Given the description of an element on the screen output the (x, y) to click on. 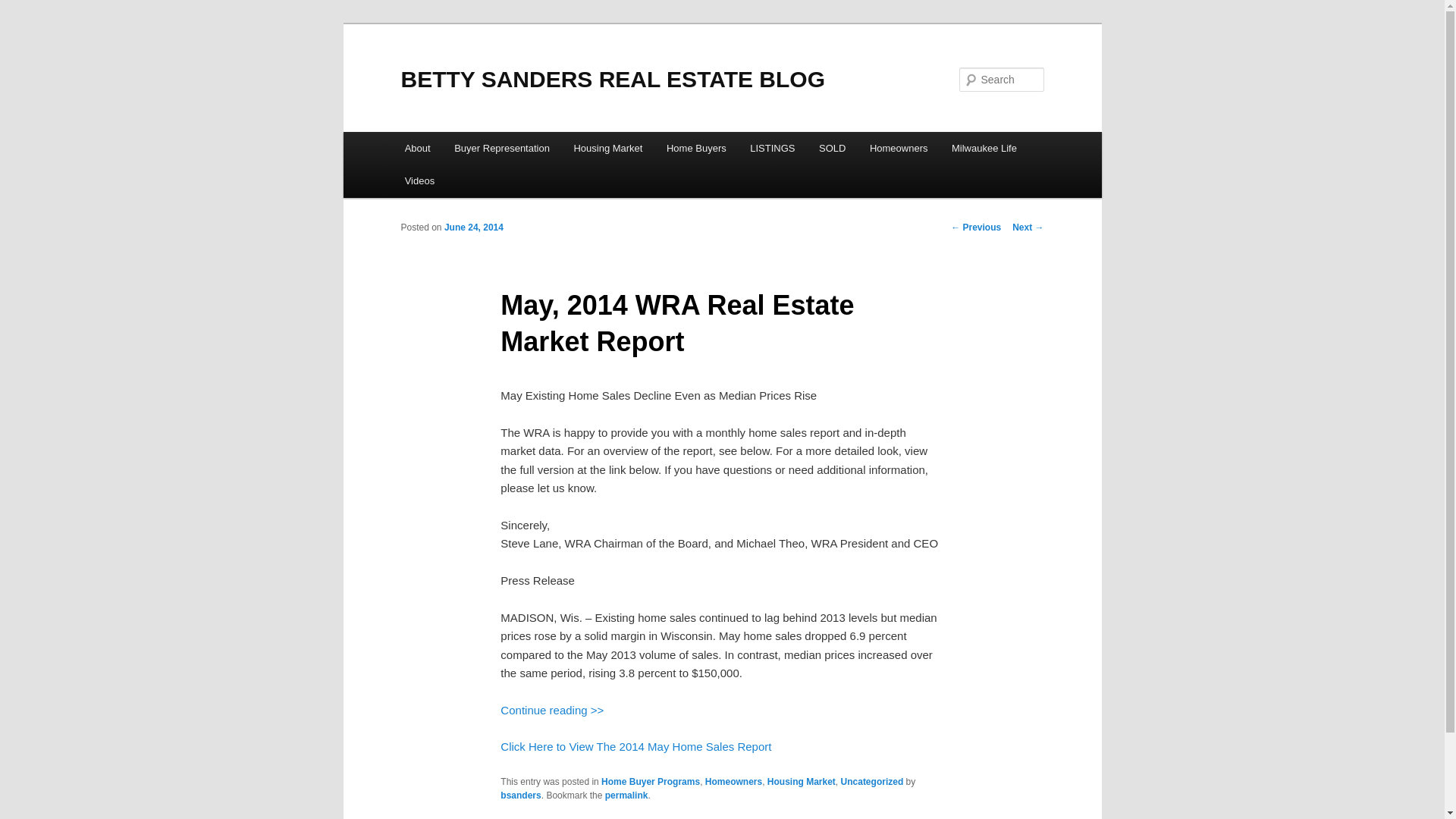
Buyer Representation (501, 147)
LISTINGS (772, 147)
Homeowners (898, 147)
June 24, 2014 (473, 226)
Uncategorized (872, 781)
WRA May Existing Home Sales Decline (552, 709)
Videos (419, 180)
Homeowners (732, 781)
Search (24, 8)
Home Buyer Programs (650, 781)
